Given the description of an element on the screen output the (x, y) to click on. 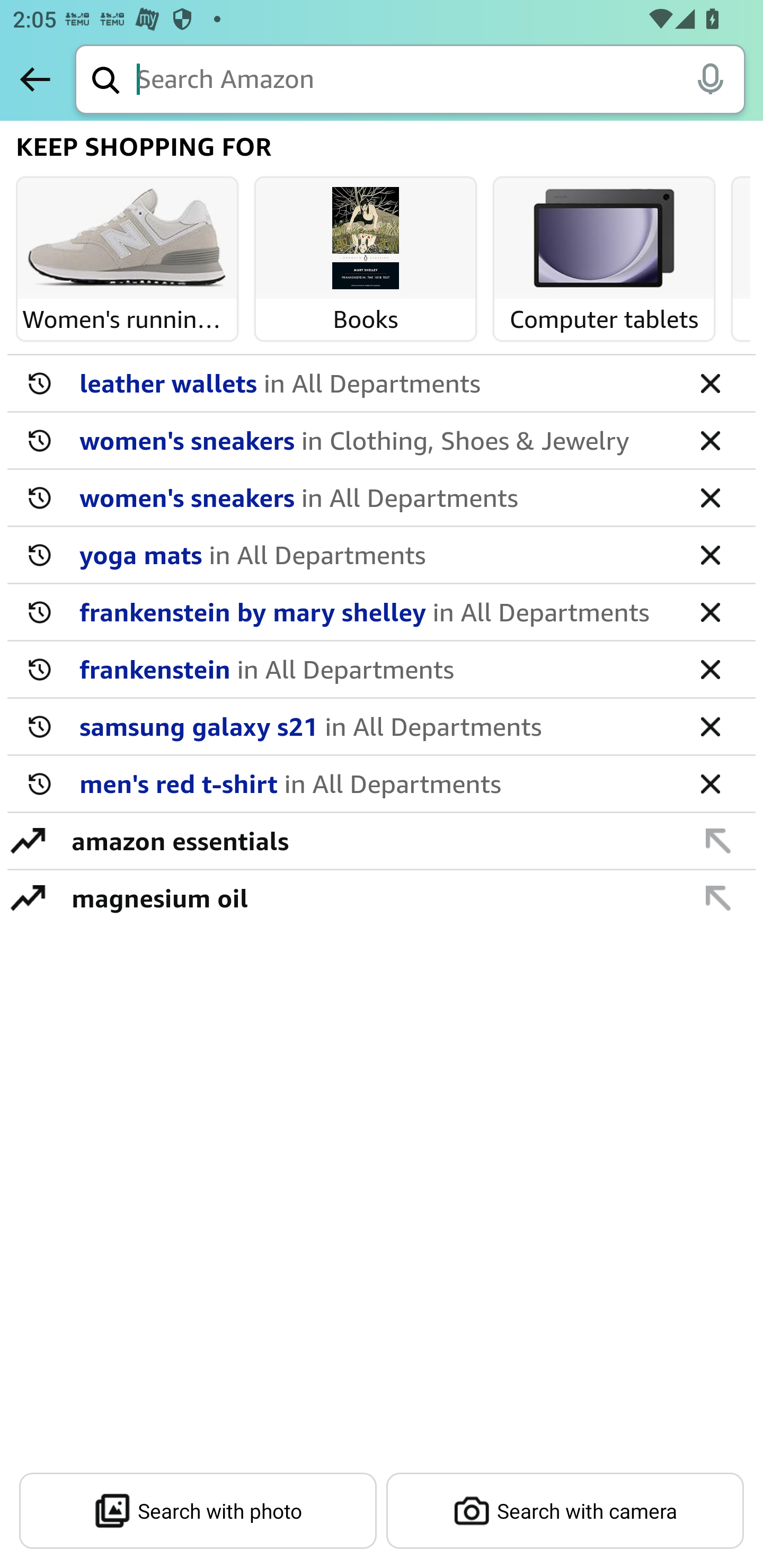
Search Amazon (440, 80)
Back (35, 78)
Alexa (710, 78)
Women's running shoes (126, 238)
Books (365, 238)
Computer tablets (603, 238)
leather wallets delete (381, 383)
leather wallets (374, 382)
delete (710, 382)
women's sneakers delete (381, 440)
women's sneakers (374, 439)
delete (710, 439)
women's sneakers delete (381, 497)
women's sneakers (374, 496)
delete (710, 496)
yoga mats delete (381, 554)
yoga mats (374, 554)
delete (710, 554)
frankenstein by mary shelley delete (381, 612)
frankenstein by mary shelley (374, 611)
delete (710, 611)
frankenstein delete (381, 669)
frankenstein (374, 668)
delete (710, 668)
samsung galaxy s21 delete (381, 726)
samsung galaxy s21 (374, 725)
delete (710, 725)
men's red t-shirt delete (381, 783)
men's red t-shirt (374, 783)
delete (710, 783)
amazon essentials append suggestion (381, 841)
amazon essentials (370, 840)
append suggestion (718, 840)
magnesium oil append suggestion (381, 897)
magnesium oil (370, 897)
append suggestion (718, 897)
Search with photo (197, 1510)
Search with camera (564, 1510)
